Given the description of an element on the screen output the (x, y) to click on. 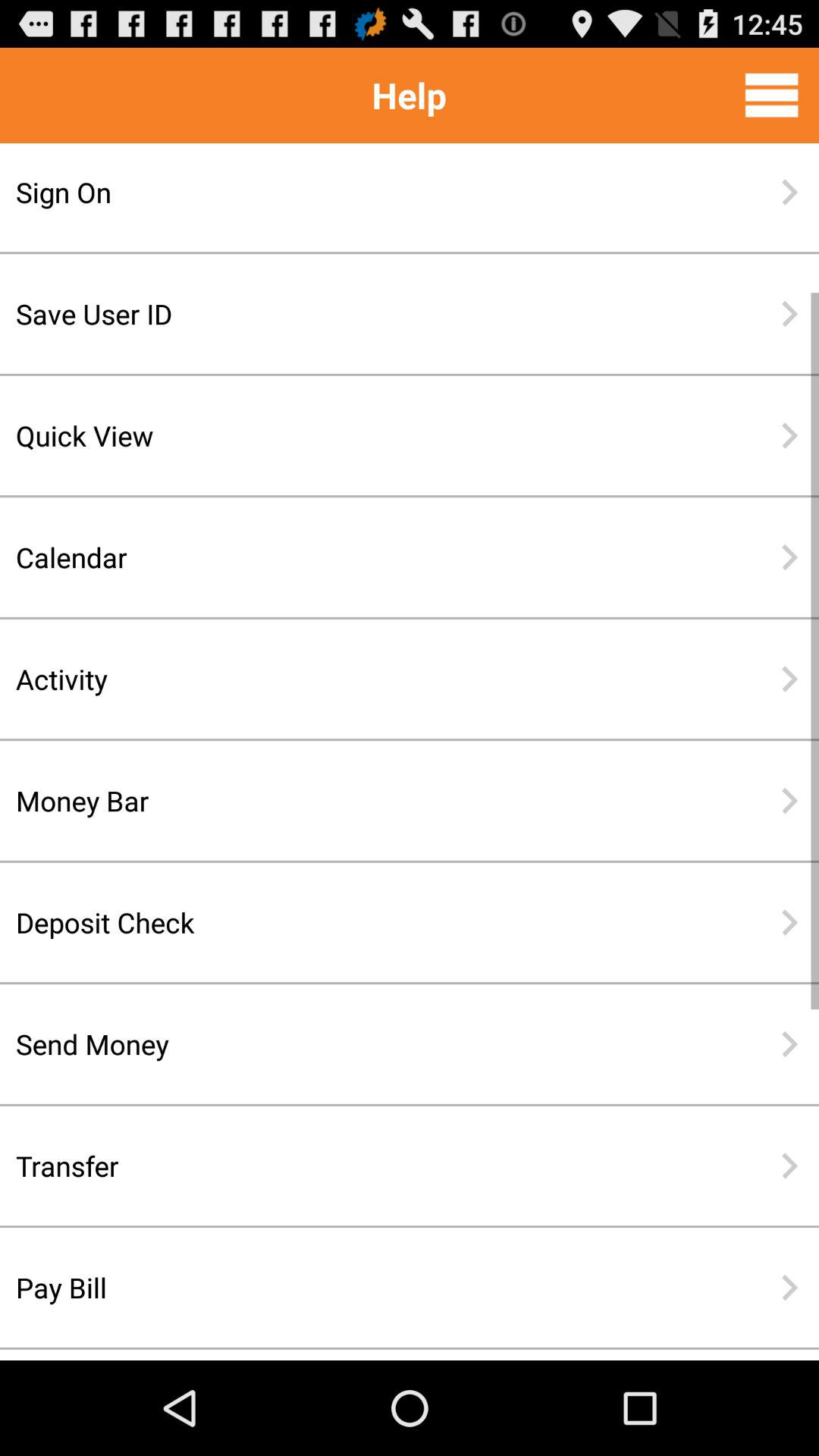
jump to the pay bill icon (359, 1287)
